Given the description of an element on the screen output the (x, y) to click on. 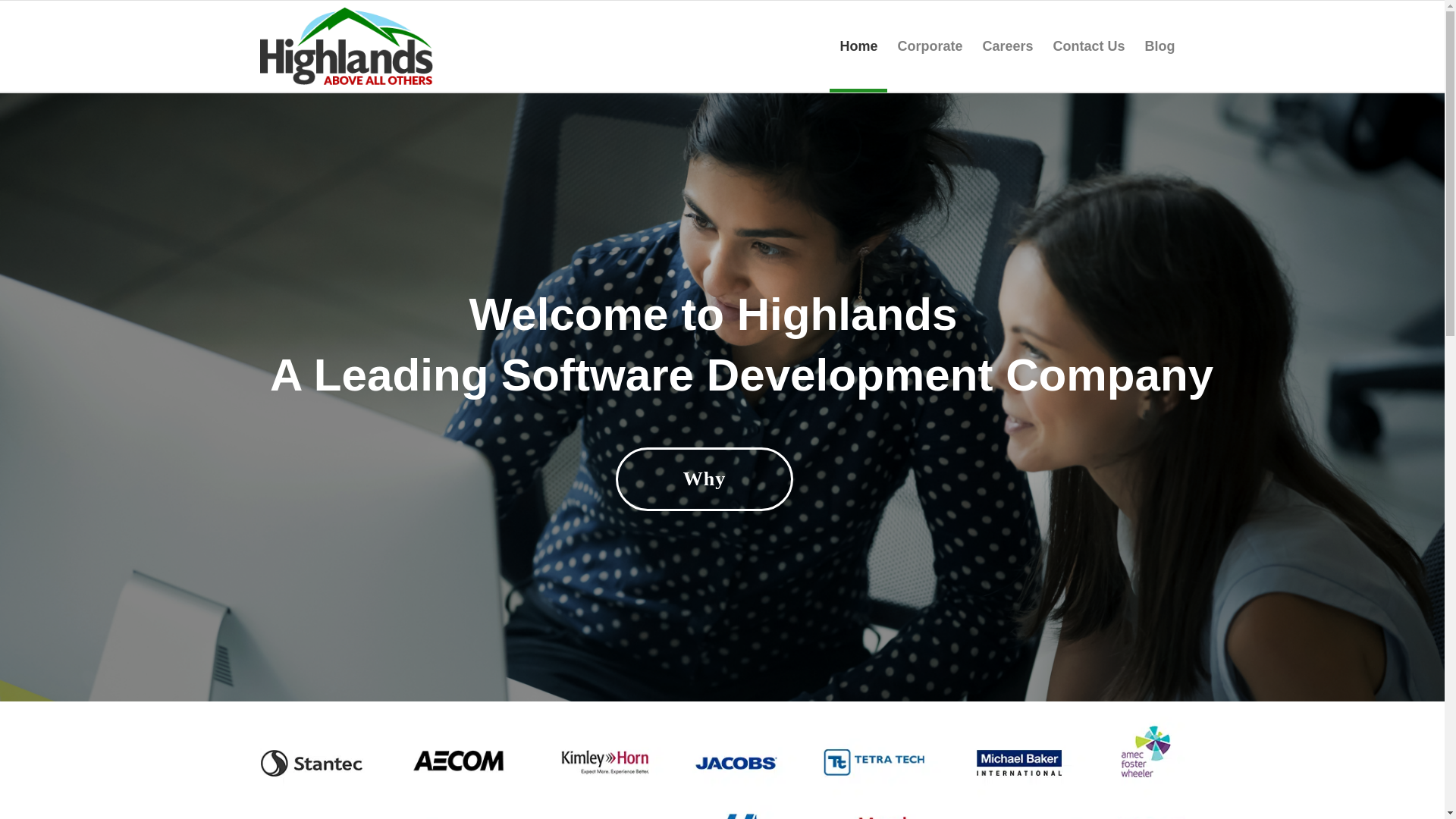
Contact Us (1088, 45)
Corporate (929, 45)
